Given the description of an element on the screen output the (x, y) to click on. 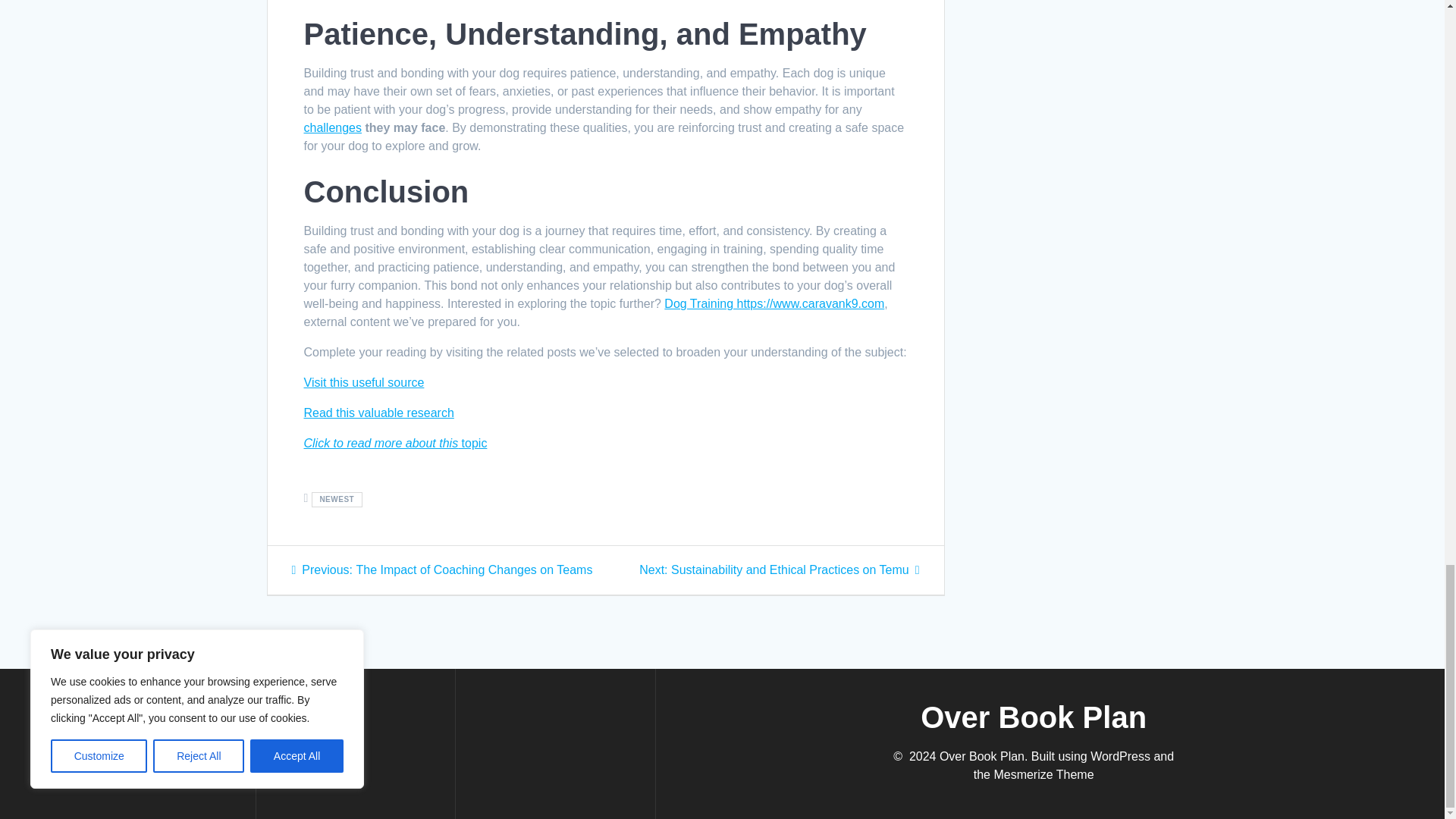
Click to read more about this topic (394, 442)
Visit this useful source (362, 382)
NEWEST (336, 499)
challenges (331, 127)
Read this valuable research (377, 412)
